Given the description of an element on the screen output the (x, y) to click on. 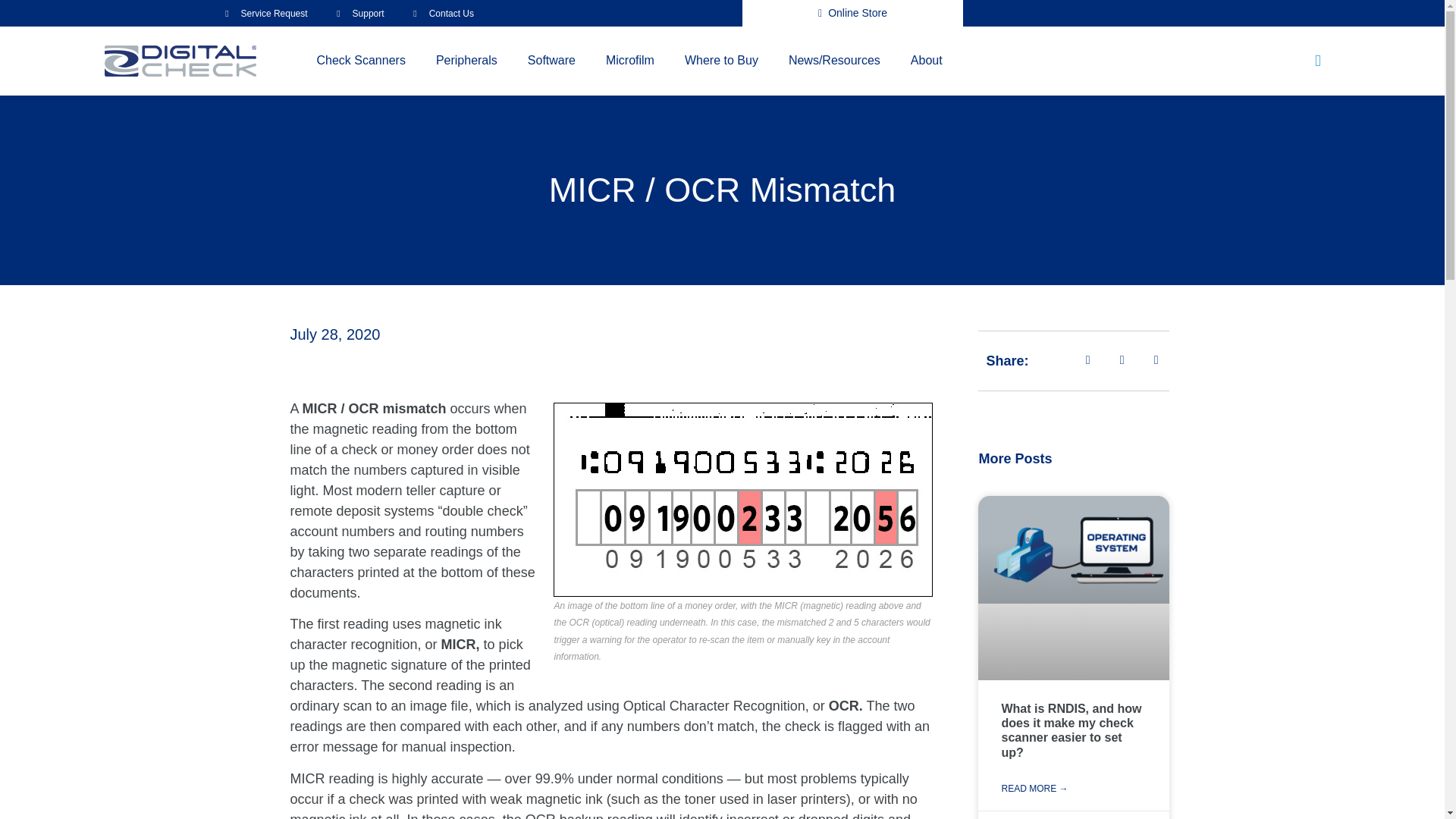
Contact Us (440, 12)
Support (356, 12)
Check Scanners (360, 60)
Peripherals (466, 60)
Online Store (852, 13)
Service Request (261, 12)
